Given the description of an element on the screen output the (x, y) to click on. 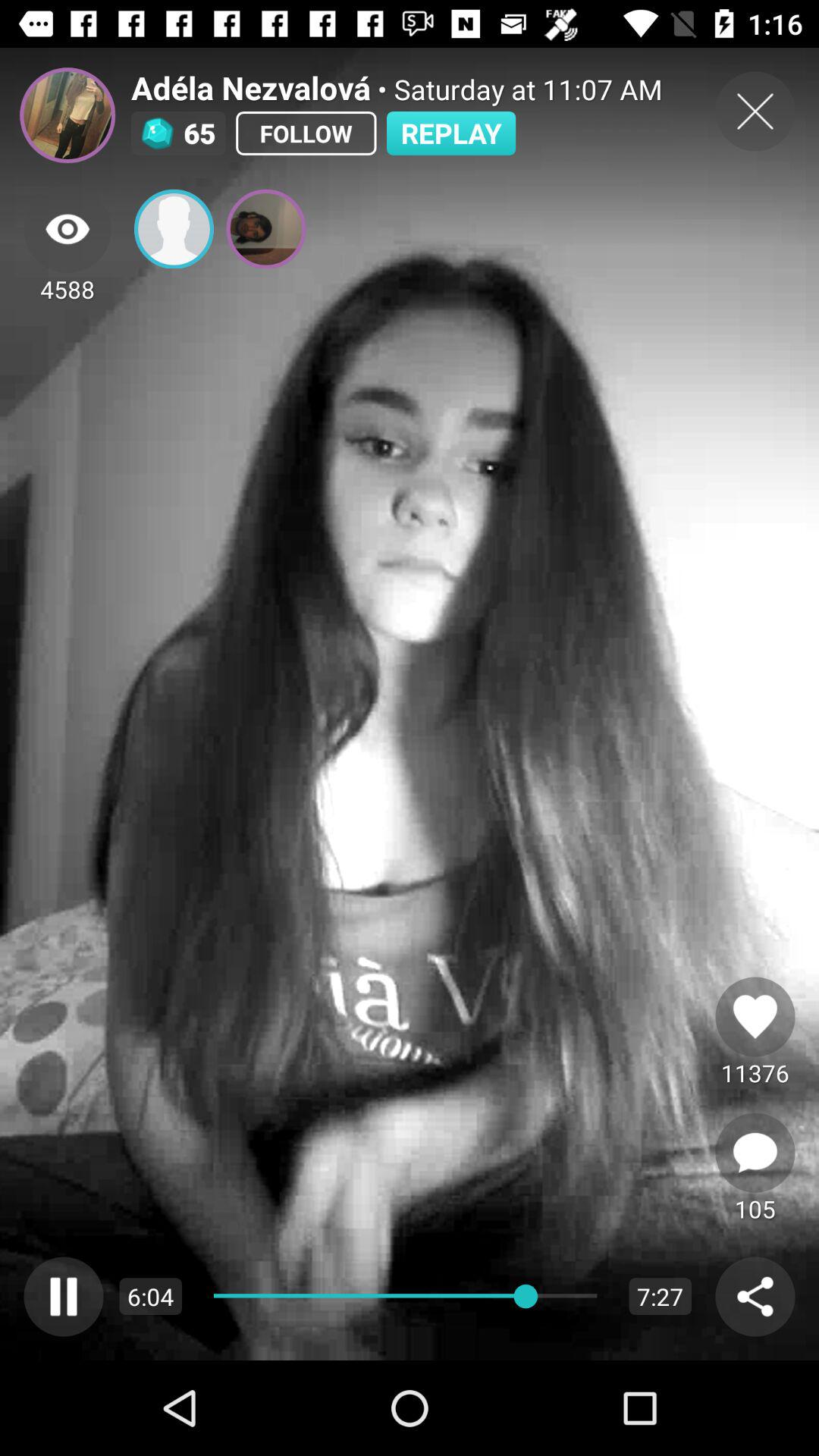
click the profile (173, 229)
